Given the description of an element on the screen output the (x, y) to click on. 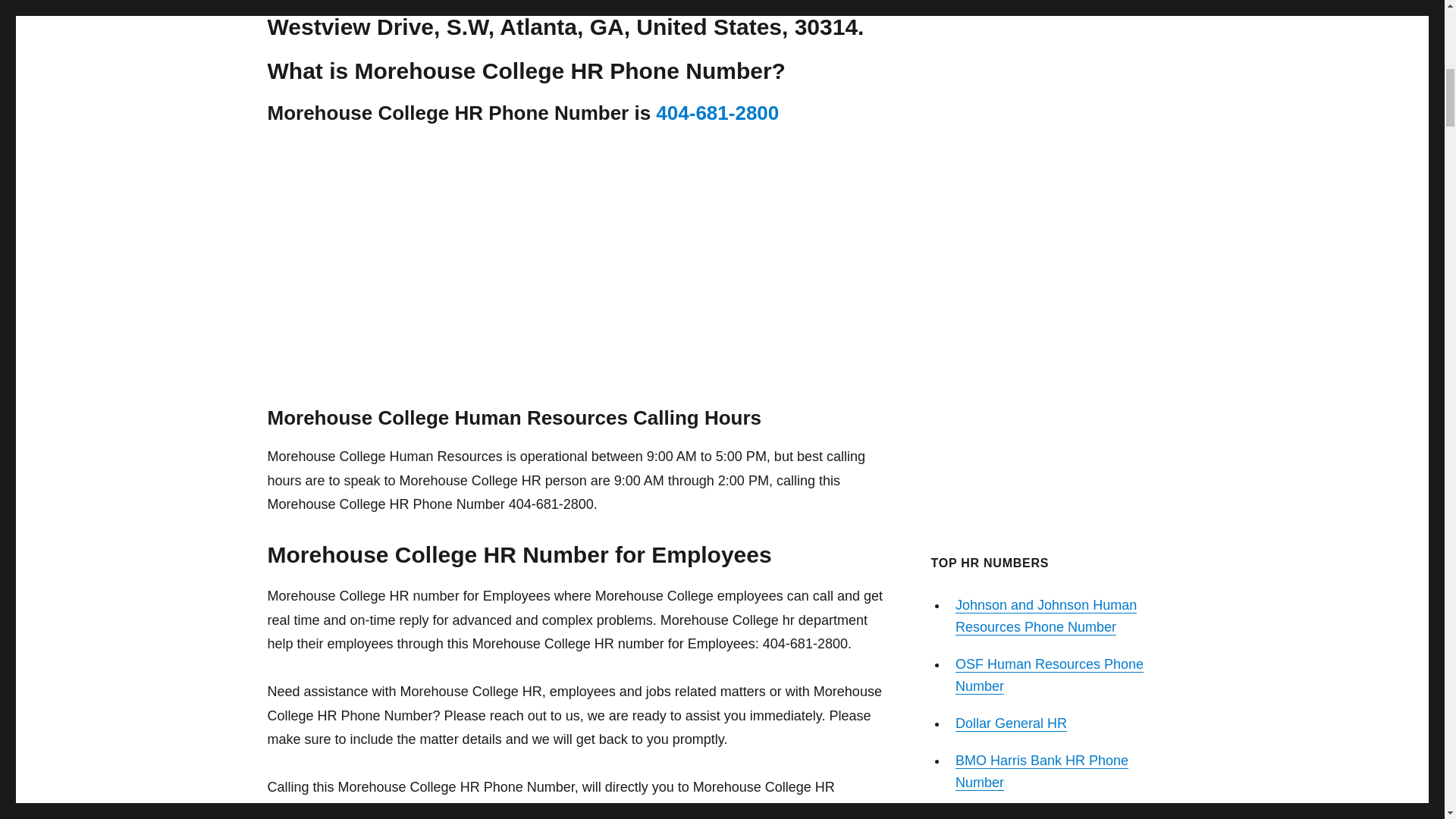
BMO Harris Bank HR Phone Number (1041, 771)
OSF Human Resources Phone Number (1048, 674)
Dollar General HR (1011, 723)
Amazon HR Phone Number (1039, 815)
404-681-2800 (717, 112)
Johnson and Johnson Human Resources Phone Number (1046, 615)
